Given the description of an element on the screen output the (x, y) to click on. 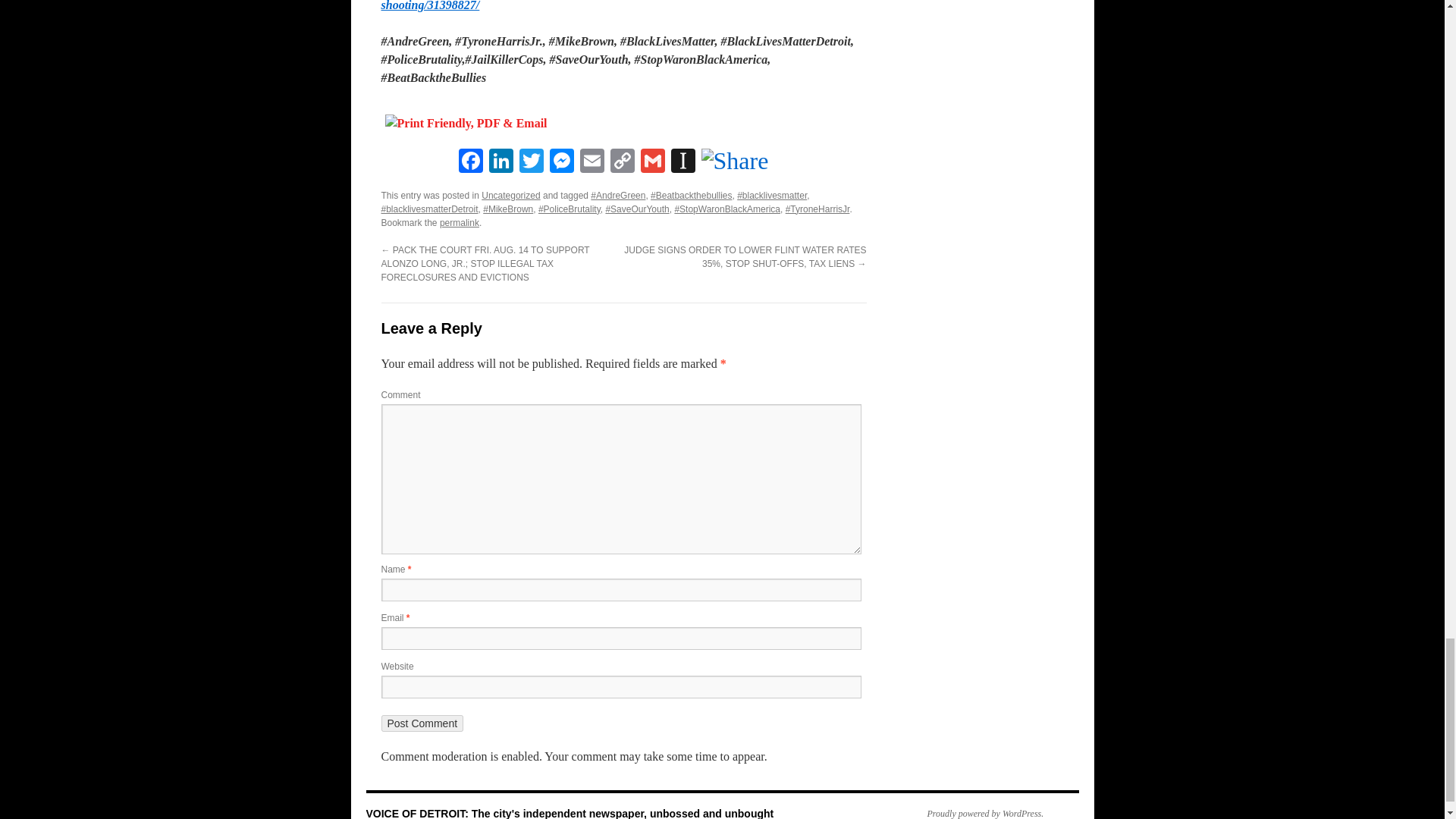
Gmail (651, 162)
Copy Link (622, 162)
Email (591, 162)
Facebook (469, 162)
Twitter (530, 162)
Email (591, 162)
Copy Link (622, 162)
Post Comment (421, 723)
LinkedIn (499, 162)
Gmail (651, 162)
Uncategorized (510, 195)
permalink (459, 222)
Instapaper (681, 162)
LinkedIn (499, 162)
